Given the description of an element on the screen output the (x, y) to click on. 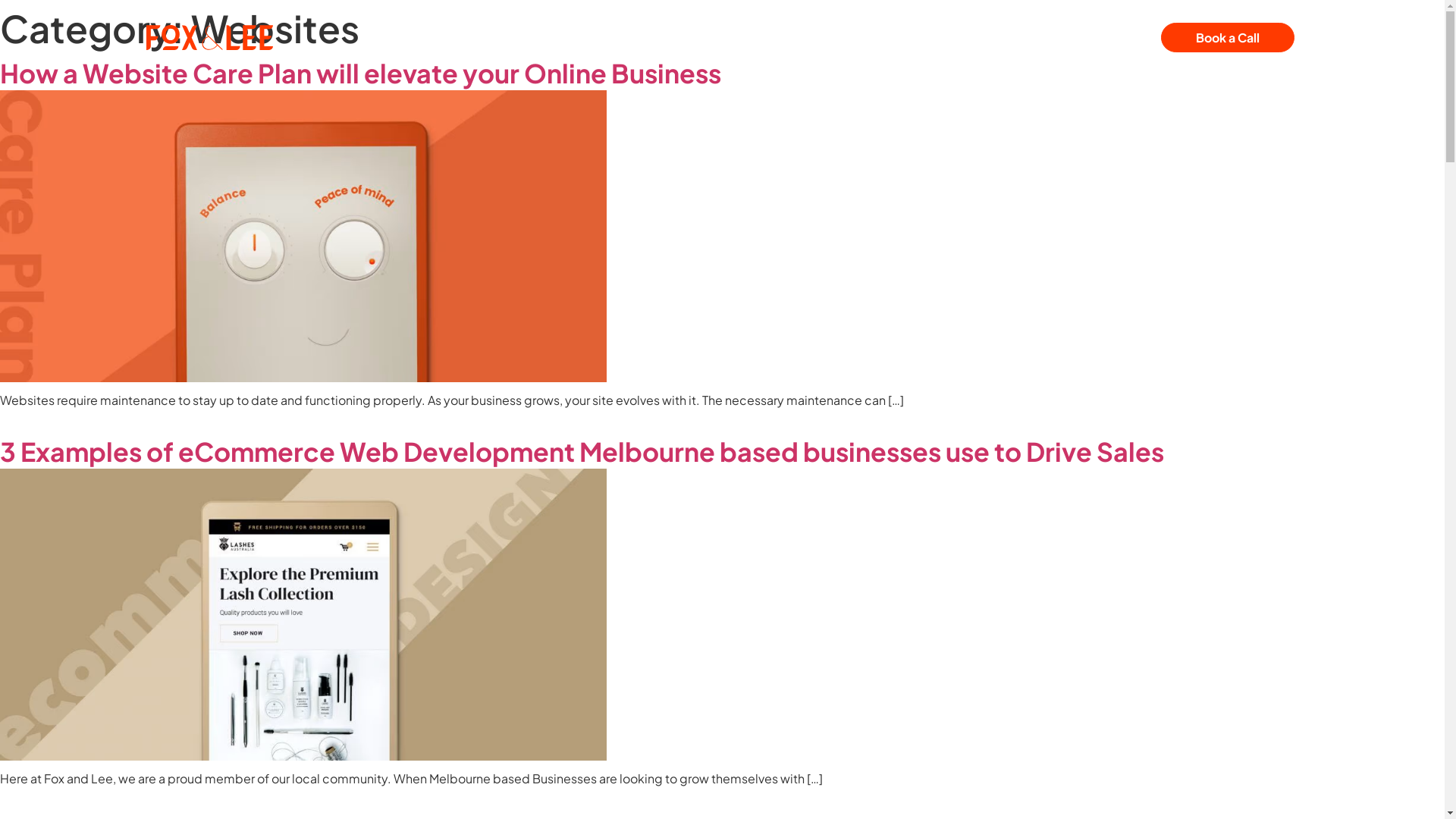
News & Articles Element type: text (819, 37)
Our Services Element type: text (490, 37)
Our Projects Element type: text (609, 37)
About Us Element type: text (710, 37)
Book a Call Element type: text (1227, 37)
How a Website Care Plan will elevate your Online Business  Element type: text (362, 72)
Contact Us Element type: text (935, 37)
